Given the description of an element on the screen output the (x, y) to click on. 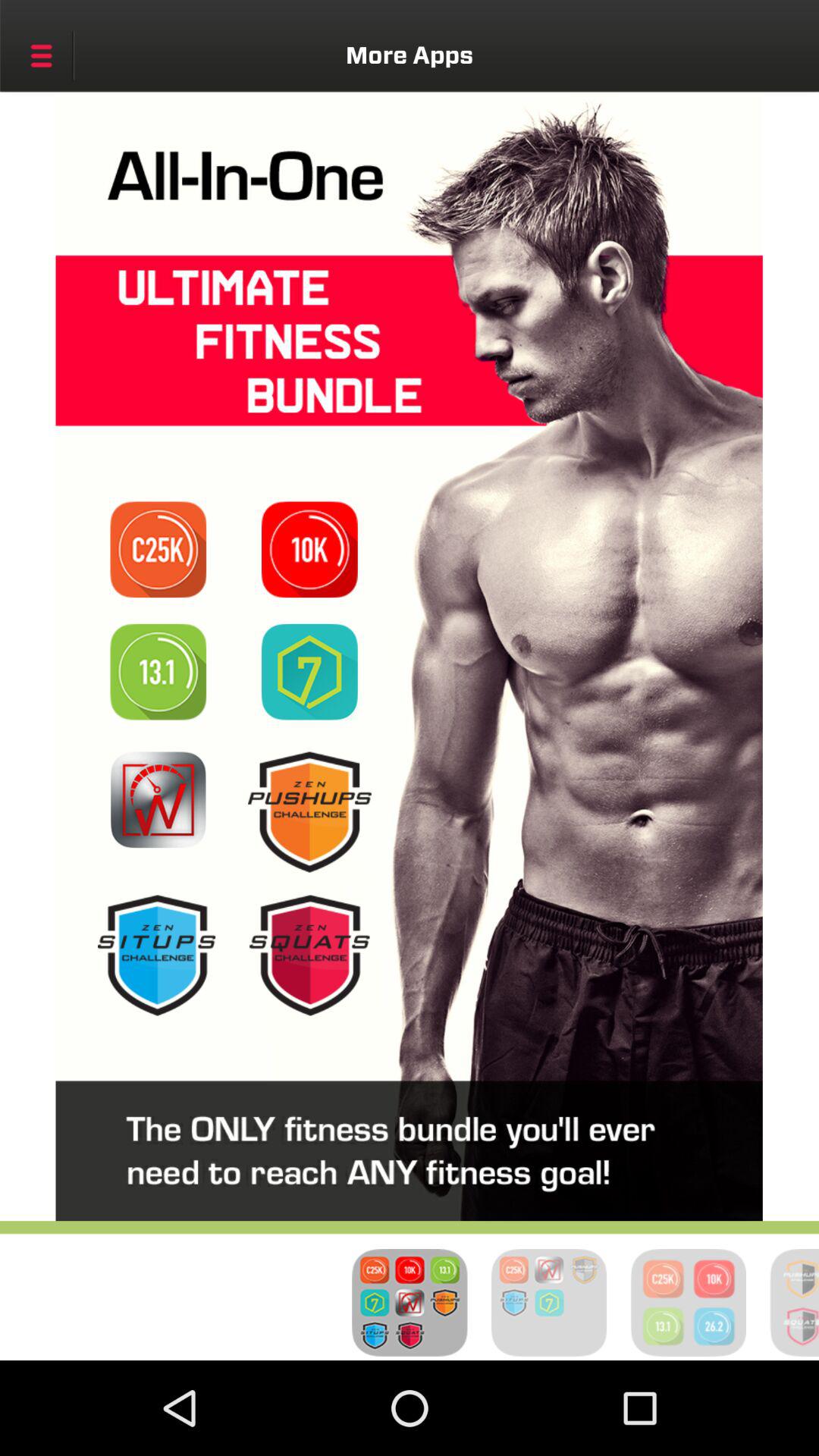
show menu (40, 55)
